Given the description of an element on the screen output the (x, y) to click on. 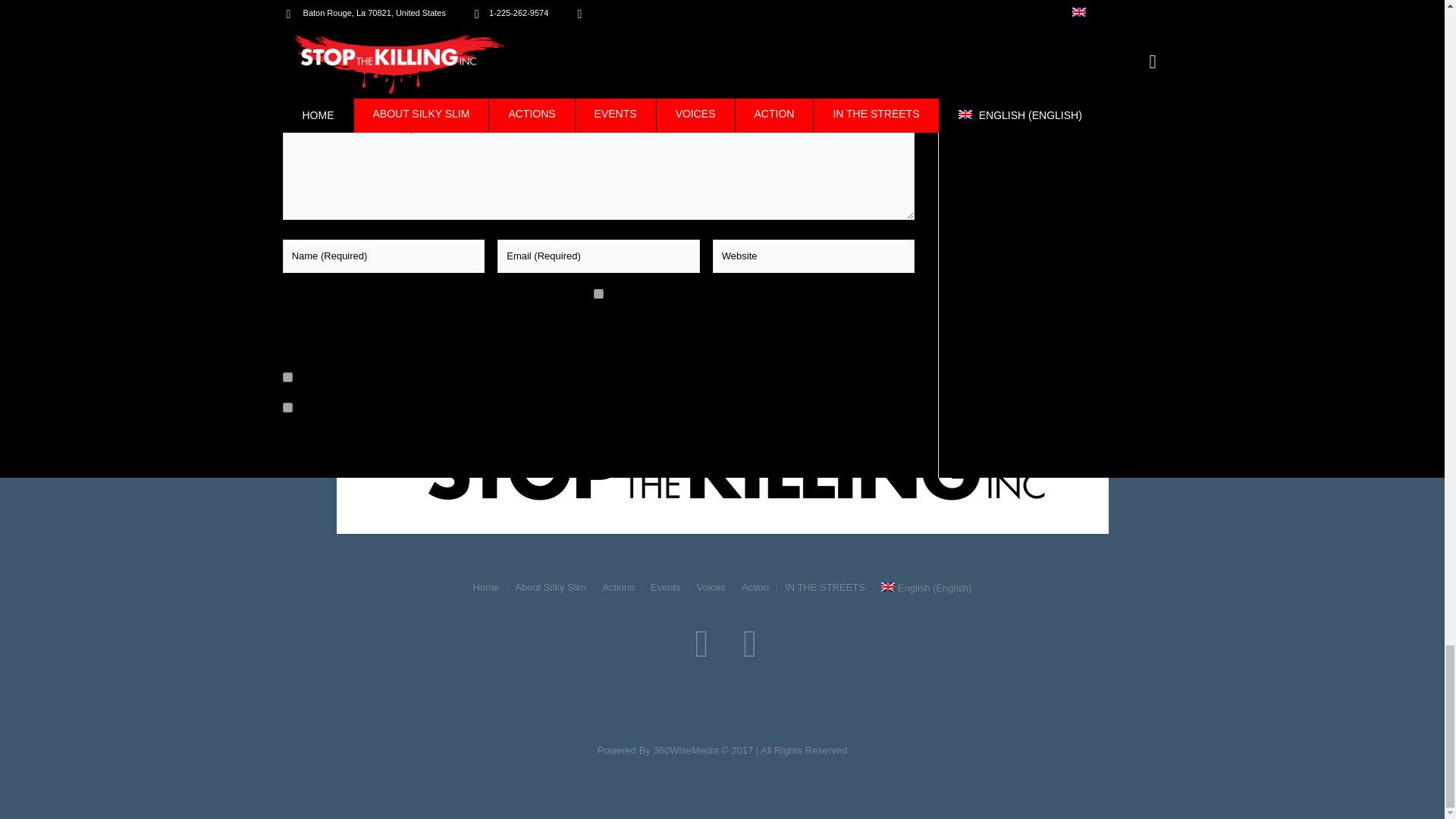
Submit Comment (339, 344)
subscribe (287, 377)
yes (598, 293)
subscribe (287, 407)
